Given the description of an element on the screen output the (x, y) to click on. 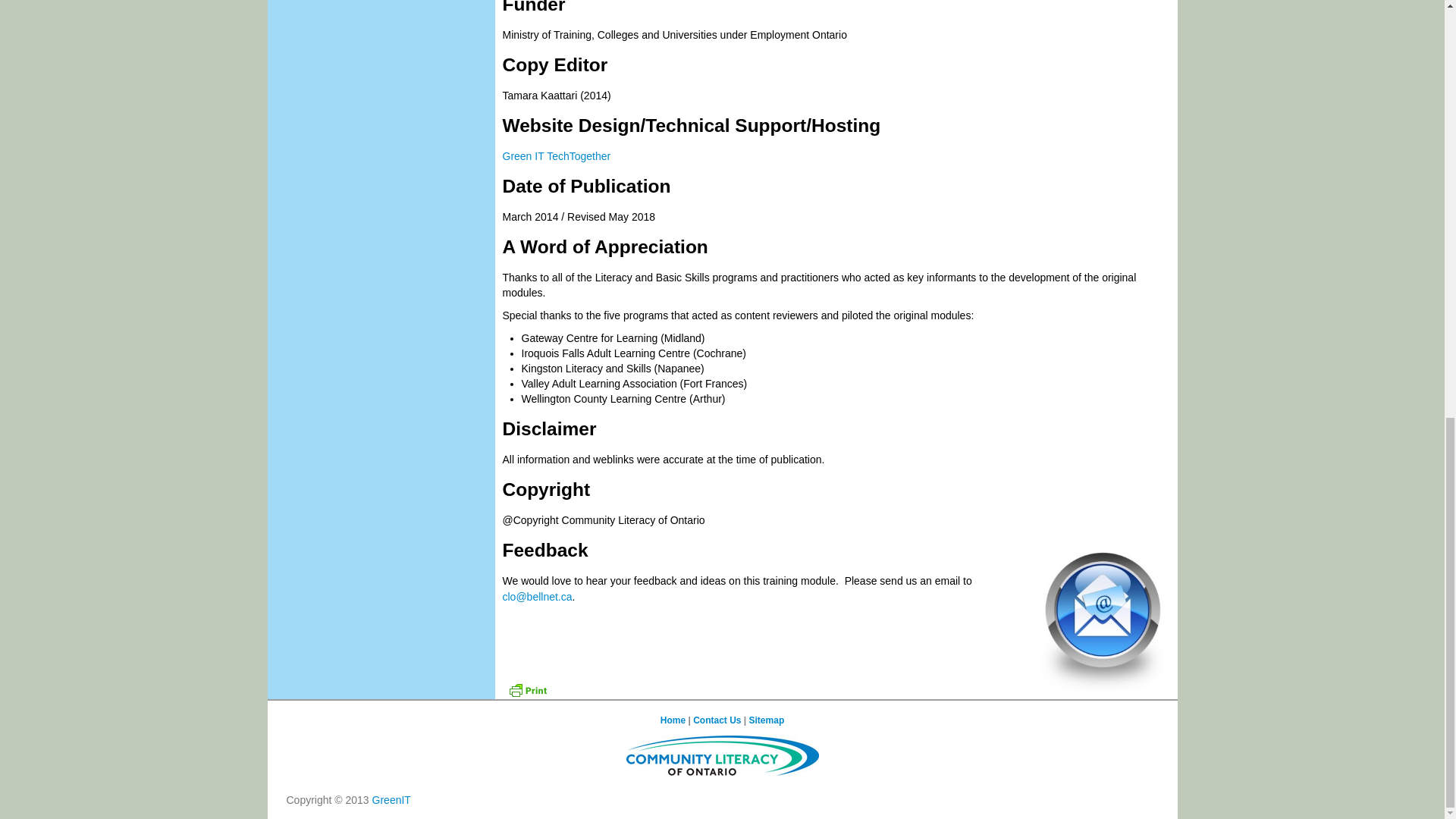
Sitemap (766, 719)
Email Community Literacy of Ontario (537, 596)
